Given the description of an element on the screen output the (x, y) to click on. 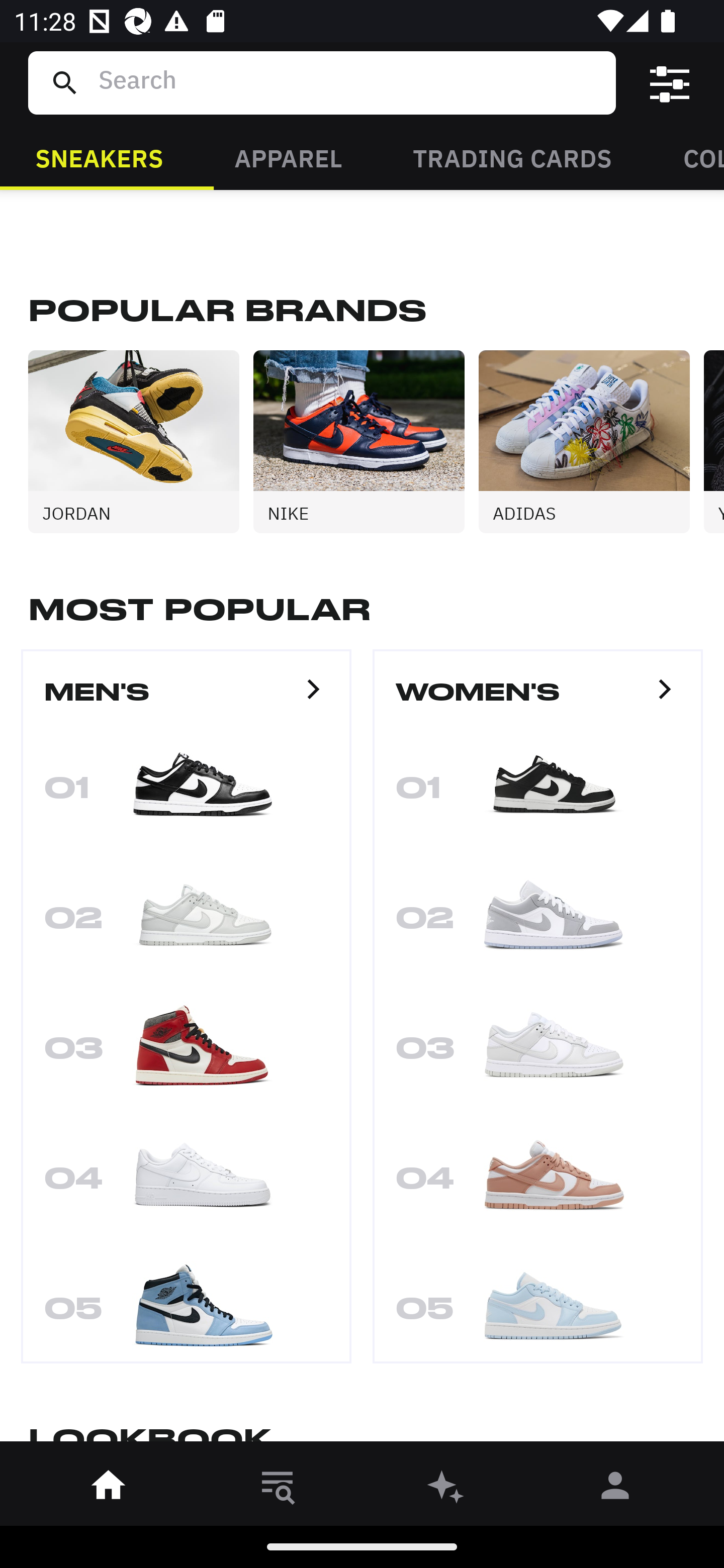
Search (349, 82)
 (669, 82)
SNEAKERS (99, 156)
APPAREL (287, 156)
TRADING CARDS (512, 156)
JORDAN (140, 441)
NIKE (365, 441)
ADIDAS (590, 441)
MEN'S  (186, 700)
WOMEN'S  (538, 700)
01 (186, 794)
01 (538, 794)
02 (186, 924)
02 (538, 924)
03 (186, 1054)
03 (538, 1054)
04 (186, 1184)
04 (538, 1184)
05 (186, 1305)
05 (538, 1305)
󰋜 (108, 1488)
󱎸 (277, 1488)
󰫢 (446, 1488)
󰀄 (615, 1488)
